Given the description of an element on the screen output the (x, y) to click on. 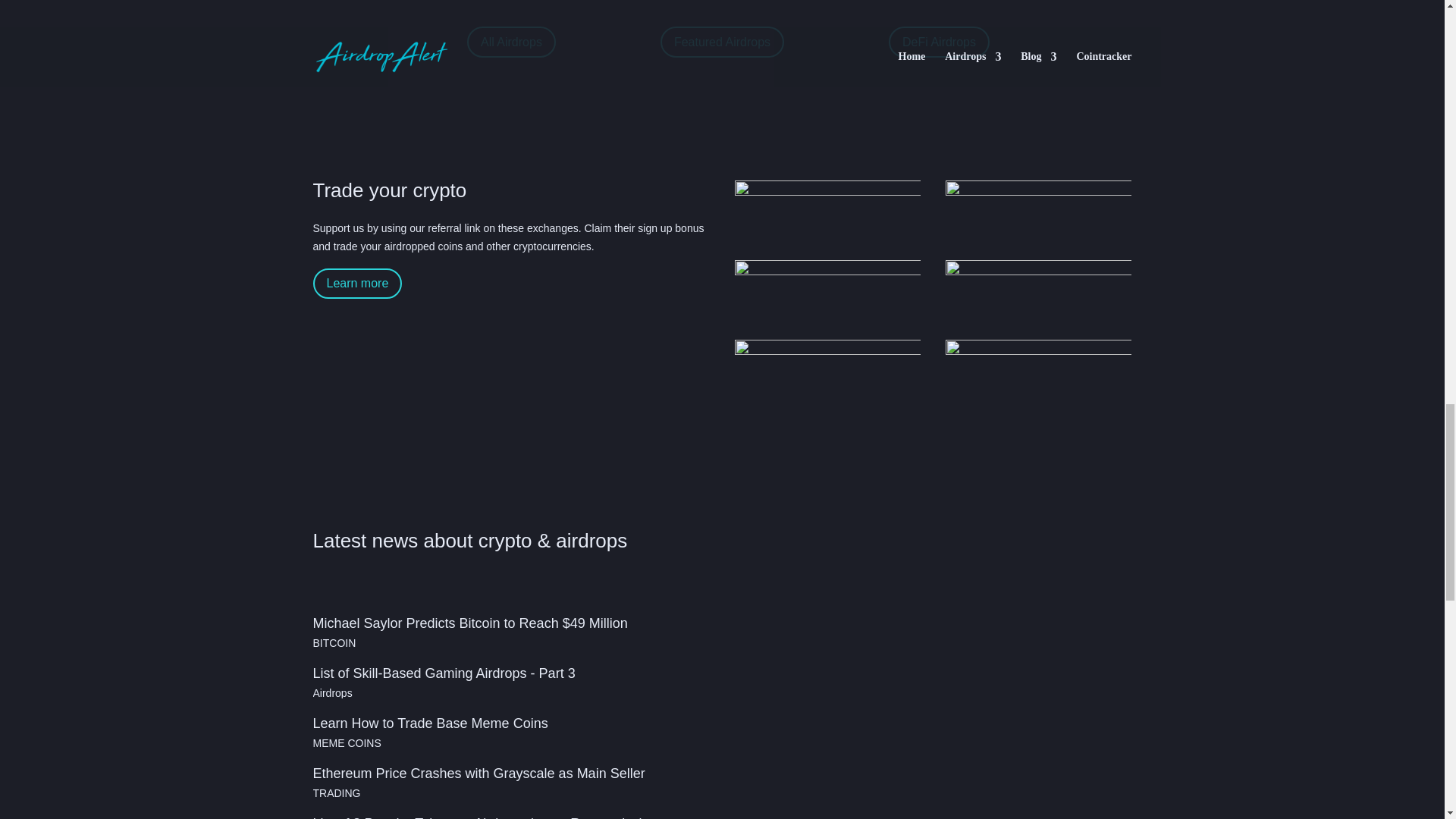
All Airdrops (511, 41)
Featured Airdrops (722, 41)
AA-logos-exchanges-kucoin (828, 293)
airdropalert-bybit-logo (828, 214)
prime-xbt-logo-airdropalert (1038, 293)
Airdropalert-Binance-logo (1038, 214)
mexc-logo-airdropalert (1038, 373)
DeFi Airdrops (939, 41)
AA-logos-aevo (828, 373)
